Given the description of an element on the screen output the (x, y) to click on. 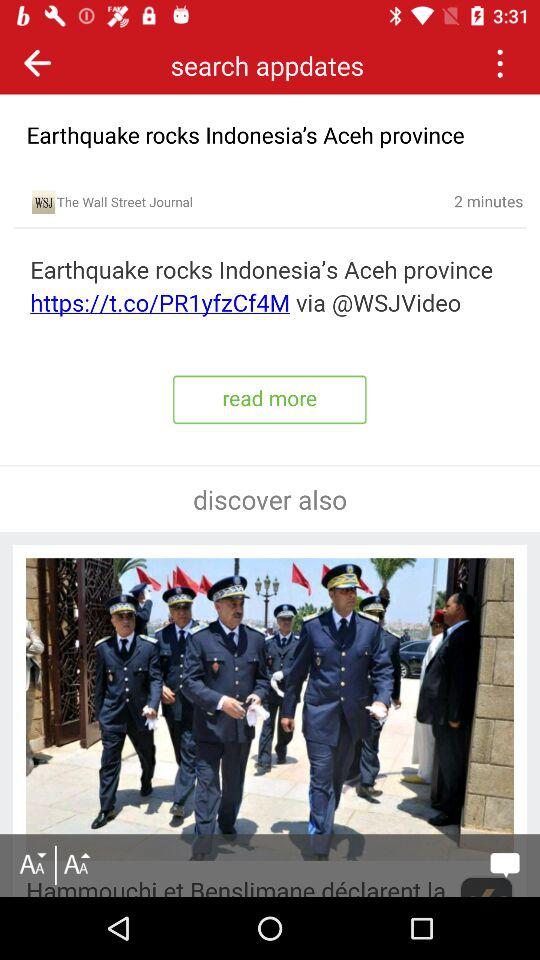
option (499, 62)
